Given the description of an element on the screen output the (x, y) to click on. 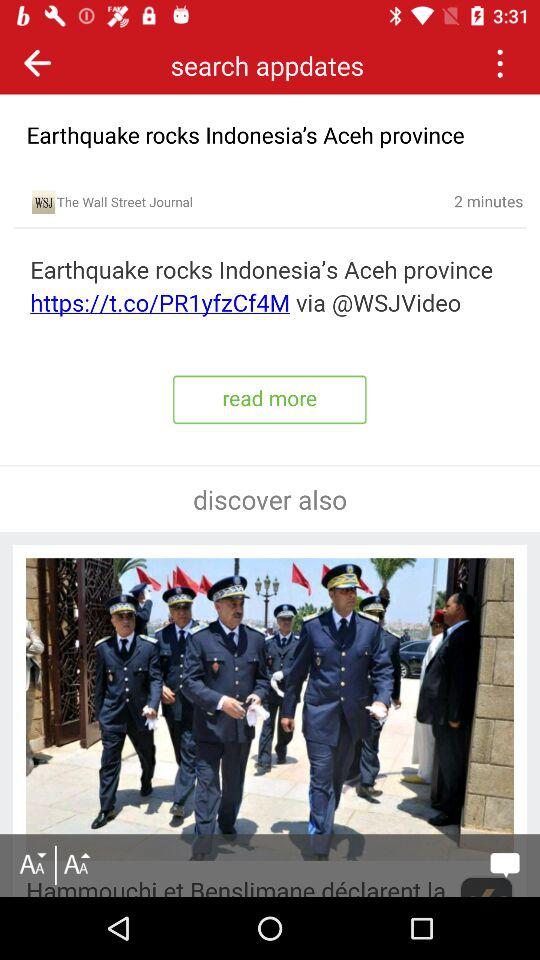
option (499, 62)
